Given the description of an element on the screen output the (x, y) to click on. 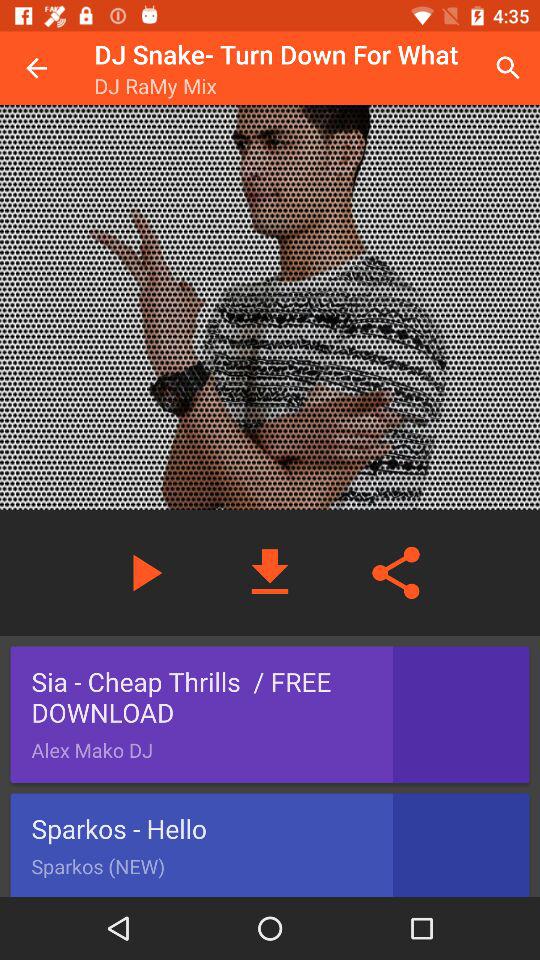
press item on the right (395, 572)
